Given the description of an element on the screen output the (x, y) to click on. 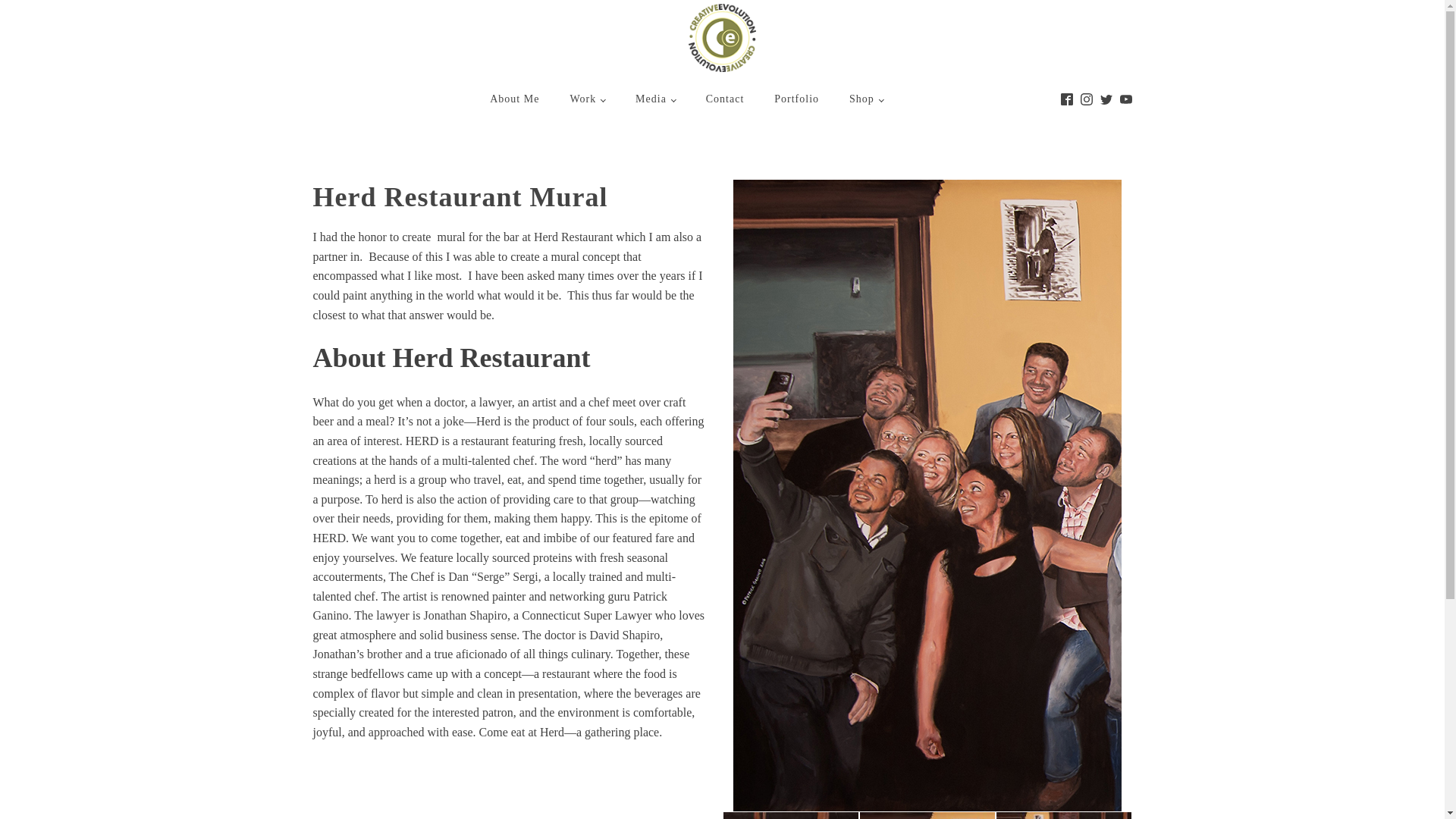
Media (655, 99)
Jonathan Shapiro (464, 615)
Portfolio (796, 99)
David Shapiro (624, 634)
About Me (514, 99)
Herd Restaurant (573, 236)
Contact (725, 99)
Shop (866, 99)
Patrick Ganino (489, 605)
Work (587, 99)
